Given the description of an element on the screen output the (x, y) to click on. 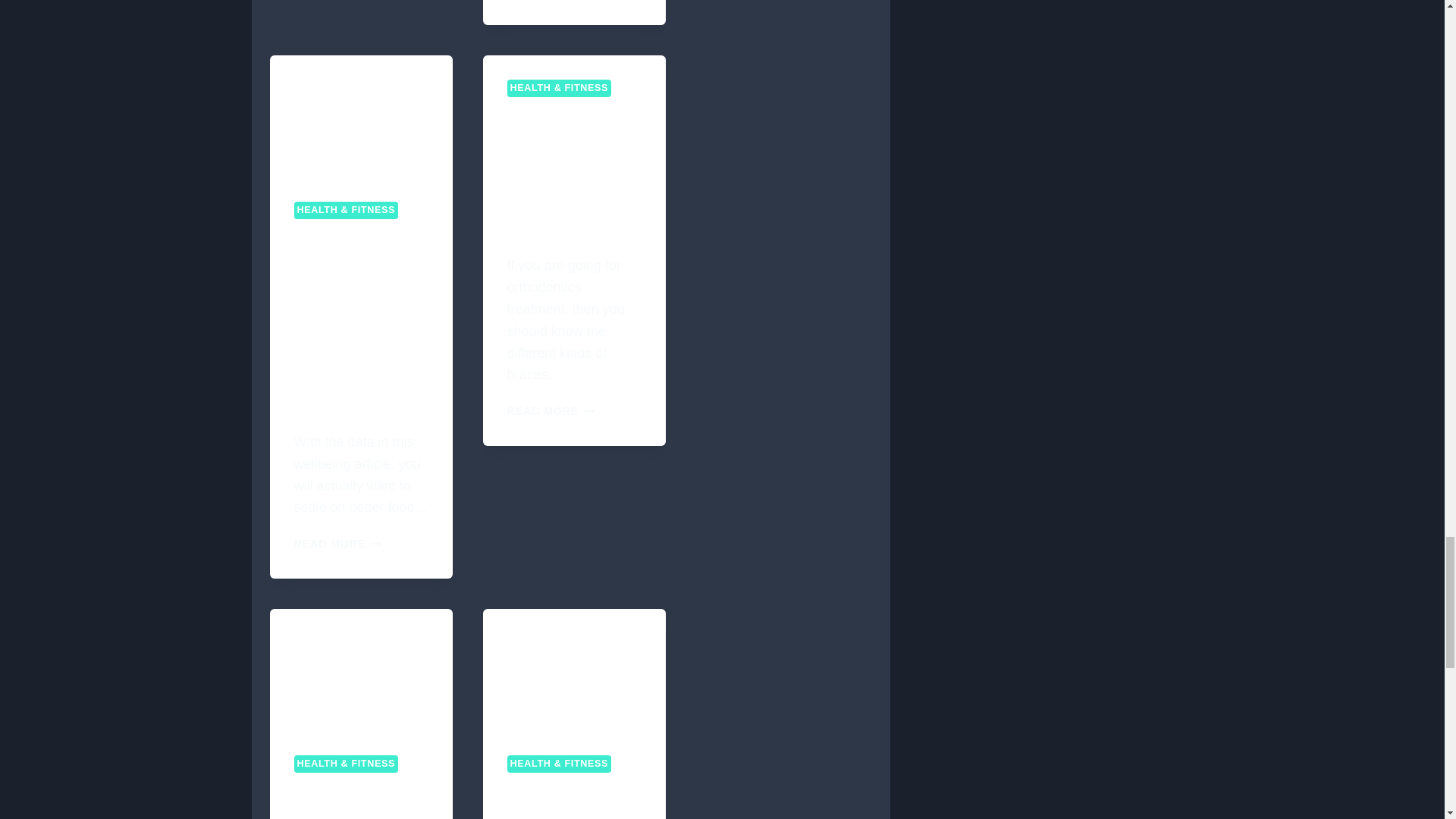
How To Make A Detox Water With Herbal Teas? (360, 800)
How Are Power Chain Braces Different From Normal Braces? (573, 172)
How To Make A Detox Water With Herbal Teas? (360, 670)
Native Cigarettes Near Me (574, 670)
